Given the description of an element on the screen output the (x, y) to click on. 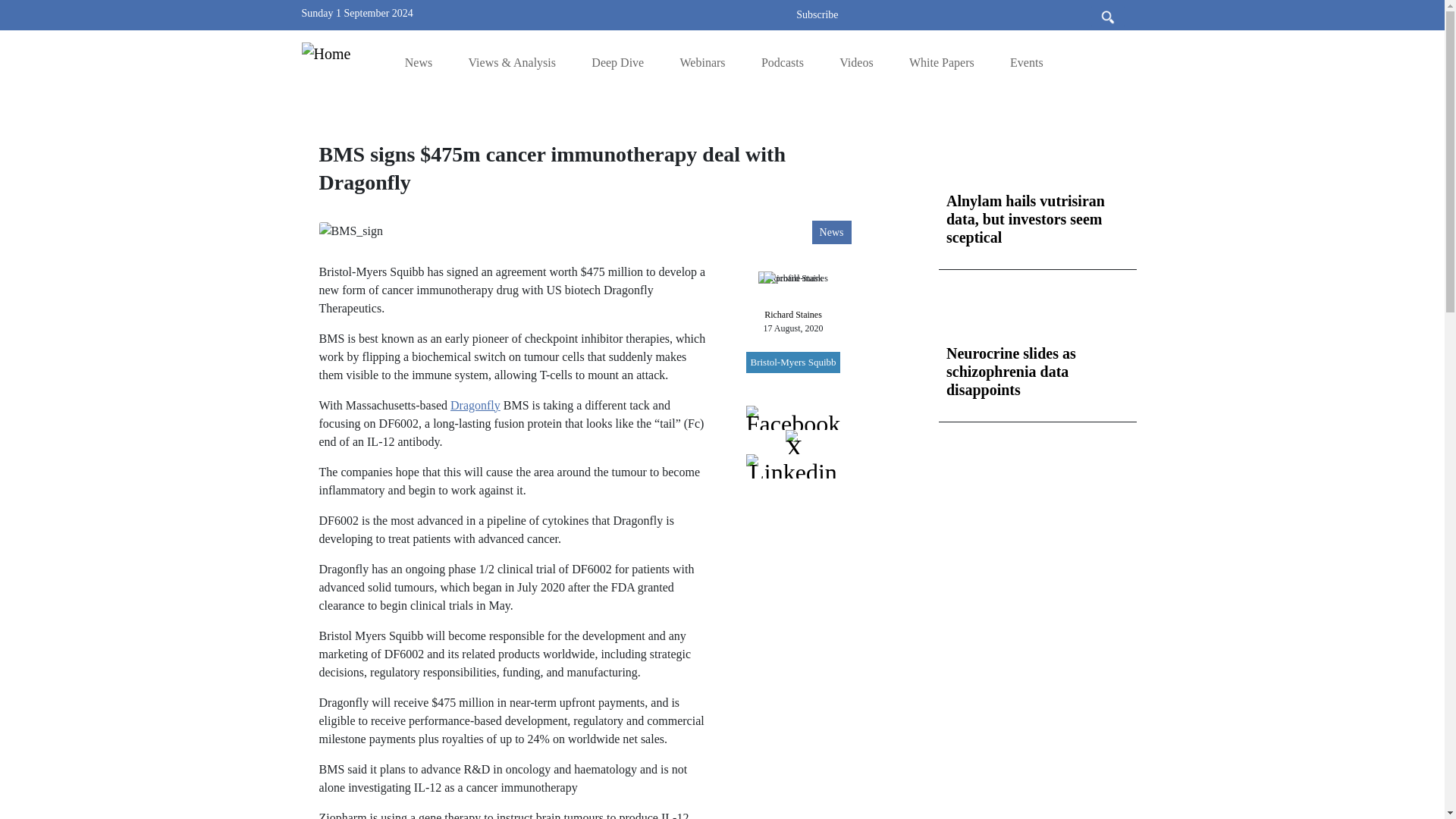
News (418, 62)
Webinars (703, 62)
Events (1026, 62)
Podcasts (782, 62)
rss (642, 12)
facebook (665, 12)
linkedin (688, 12)
X (711, 12)
twitter (711, 12)
